Given the description of an element on the screen output the (x, y) to click on. 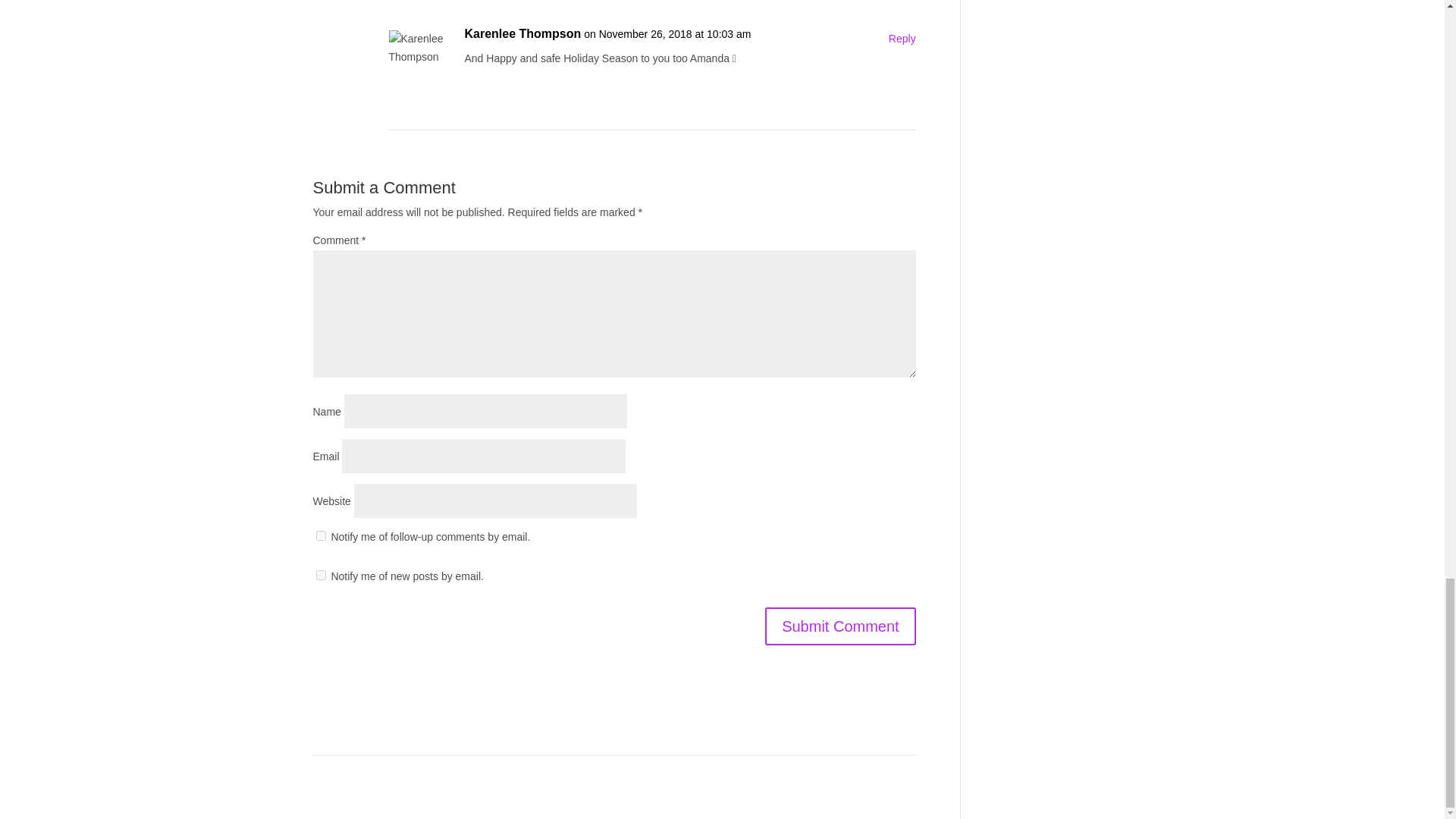
subscribe (319, 574)
Submit Comment (840, 626)
subscribe (319, 535)
